Given the description of an element on the screen output the (x, y) to click on. 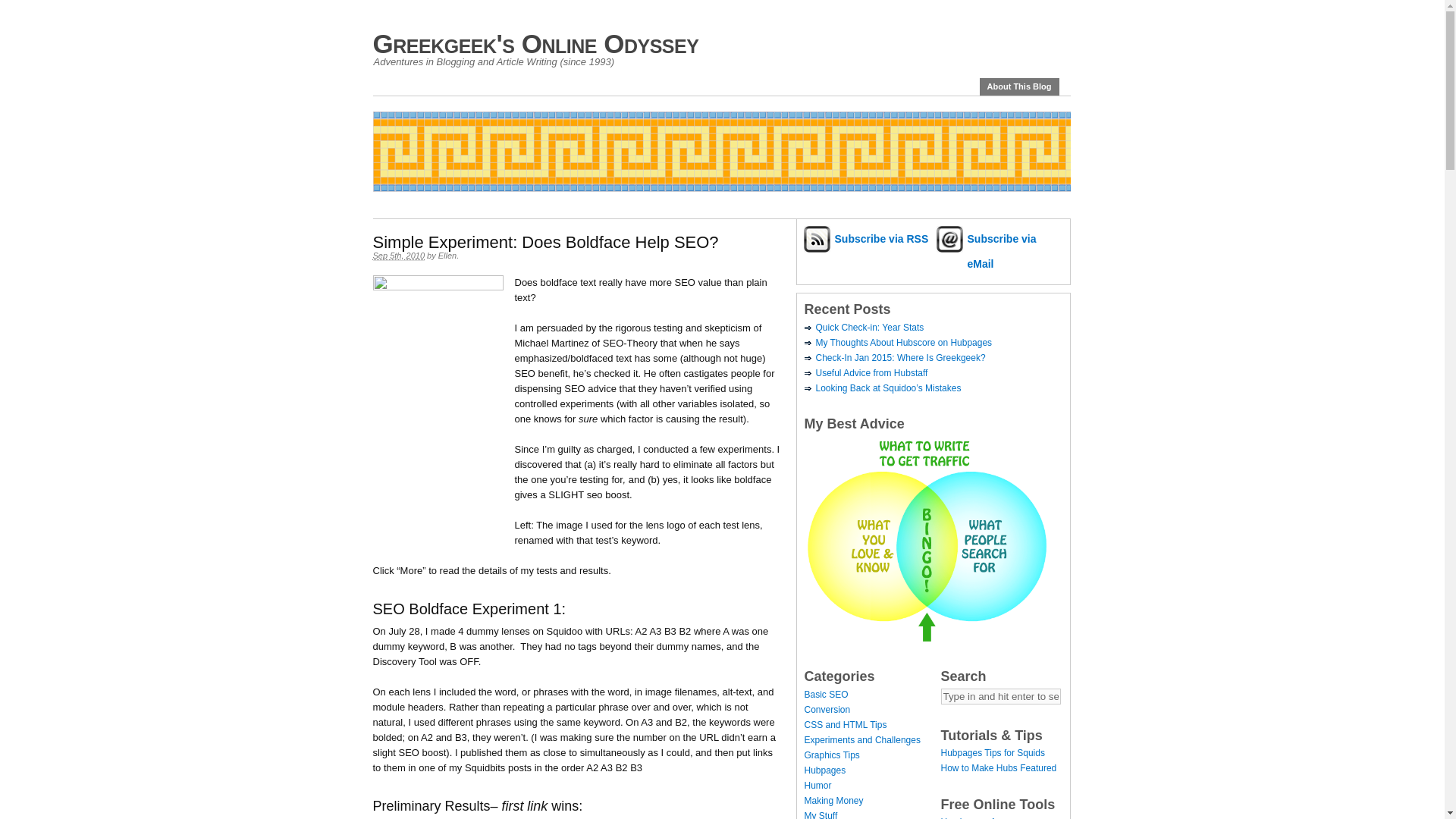
My Thoughts About Hubscore on Hubpages (903, 342)
Humor (817, 785)
Subscribe via RSS (866, 238)
Useful Advice from Hubstaff (871, 372)
Conversion (826, 709)
Advertisement (648, 197)
Subscribe to this Feed via RSS (866, 238)
Graphics Tips (831, 755)
Subscribe via eMail (999, 251)
Ellen (447, 255)
Sep 5th, 2010 (398, 255)
Check-In Jan 2015: Where Is Greekgeek? (900, 357)
My Stuff (820, 814)
About This Blog (1019, 86)
Making Money (833, 800)
